Given the description of an element on the screen output the (x, y) to click on. 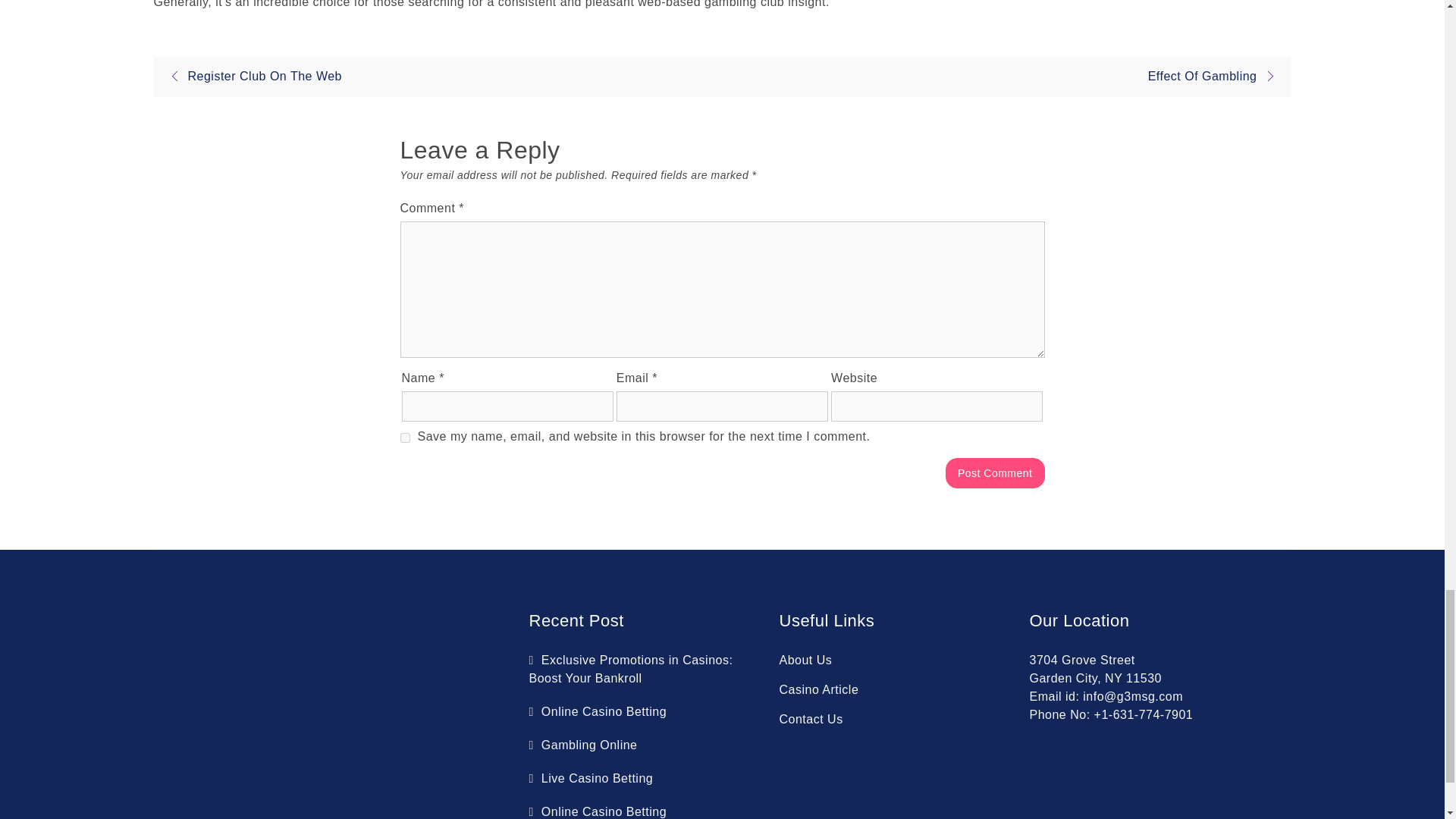
Casino Article (818, 689)
Gambling Online (583, 744)
Online Casino Betting (597, 711)
Post Comment (994, 472)
Live Casino Betting (591, 778)
Post Comment (994, 472)
Register Club On The Web (251, 75)
Effect Of Gambling (1216, 75)
Online Casino Betting (597, 811)
About Us (805, 659)
